Given the description of an element on the screen output the (x, y) to click on. 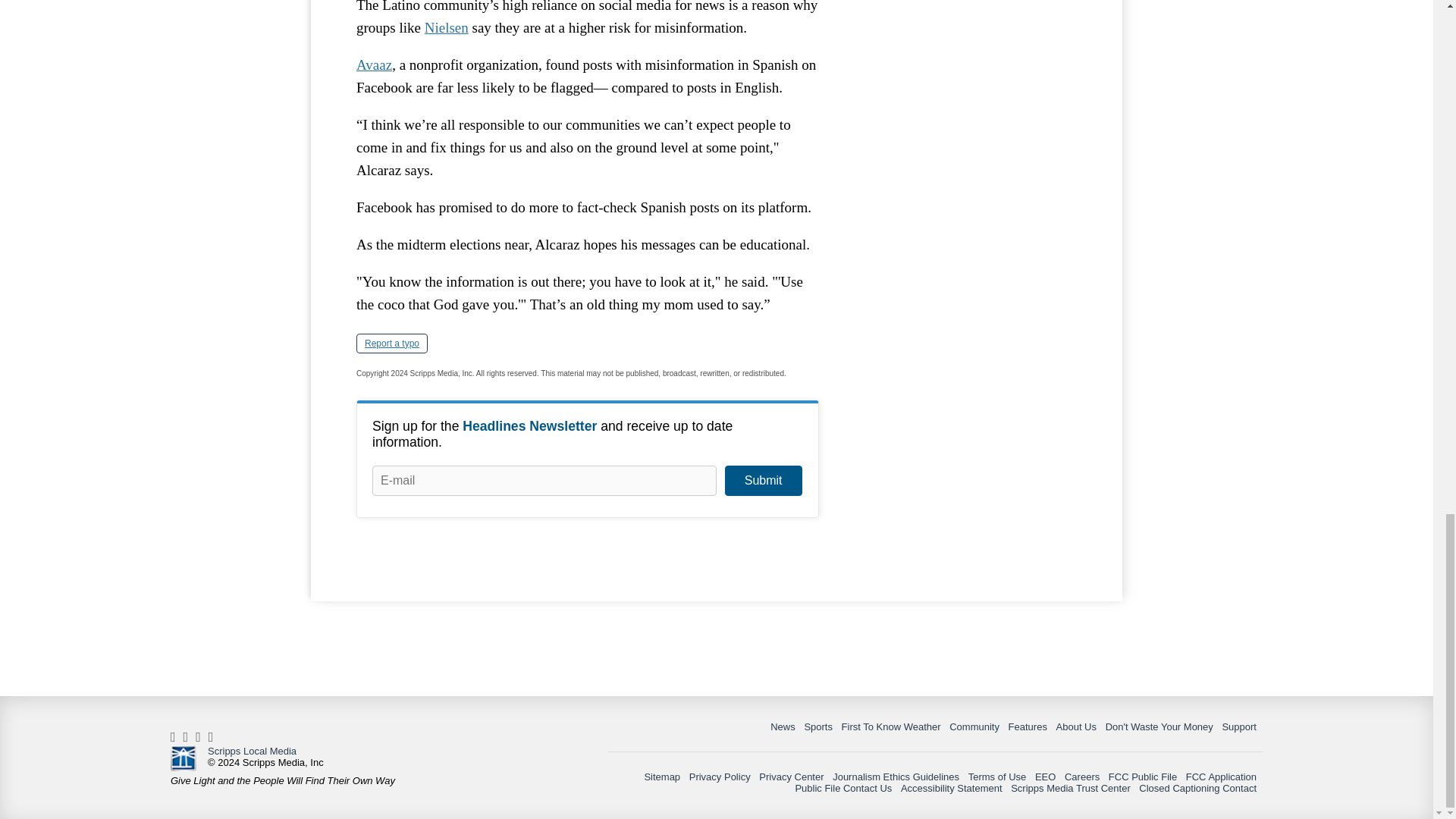
Submit (763, 481)
